Given the description of an element on the screen output the (x, y) to click on. 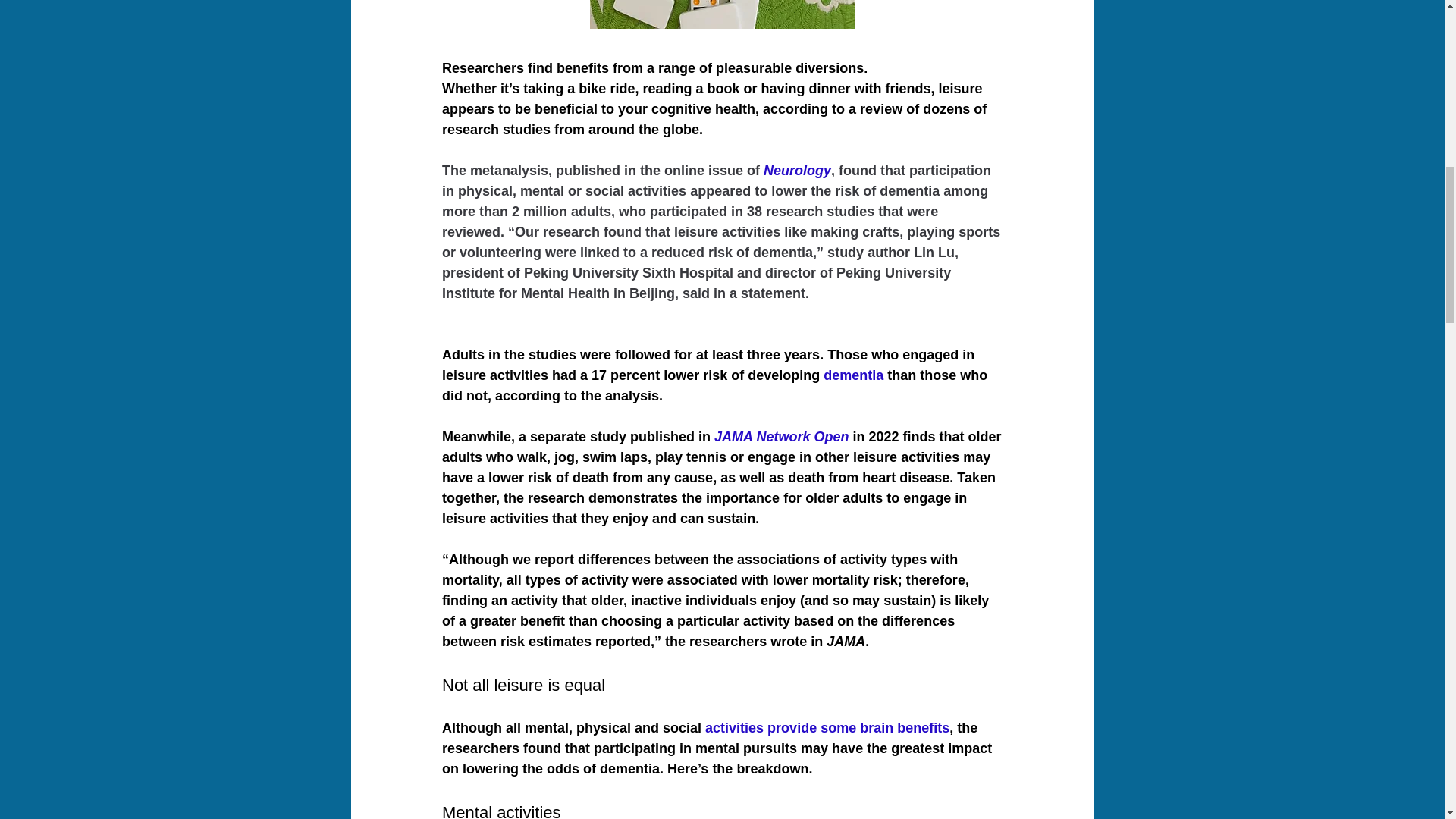
JAMA Network Open (781, 436)
activities provide some brain benefits (826, 727)
dementia (853, 375)
Neurology (796, 170)
